Given the description of an element on the screen output the (x, y) to click on. 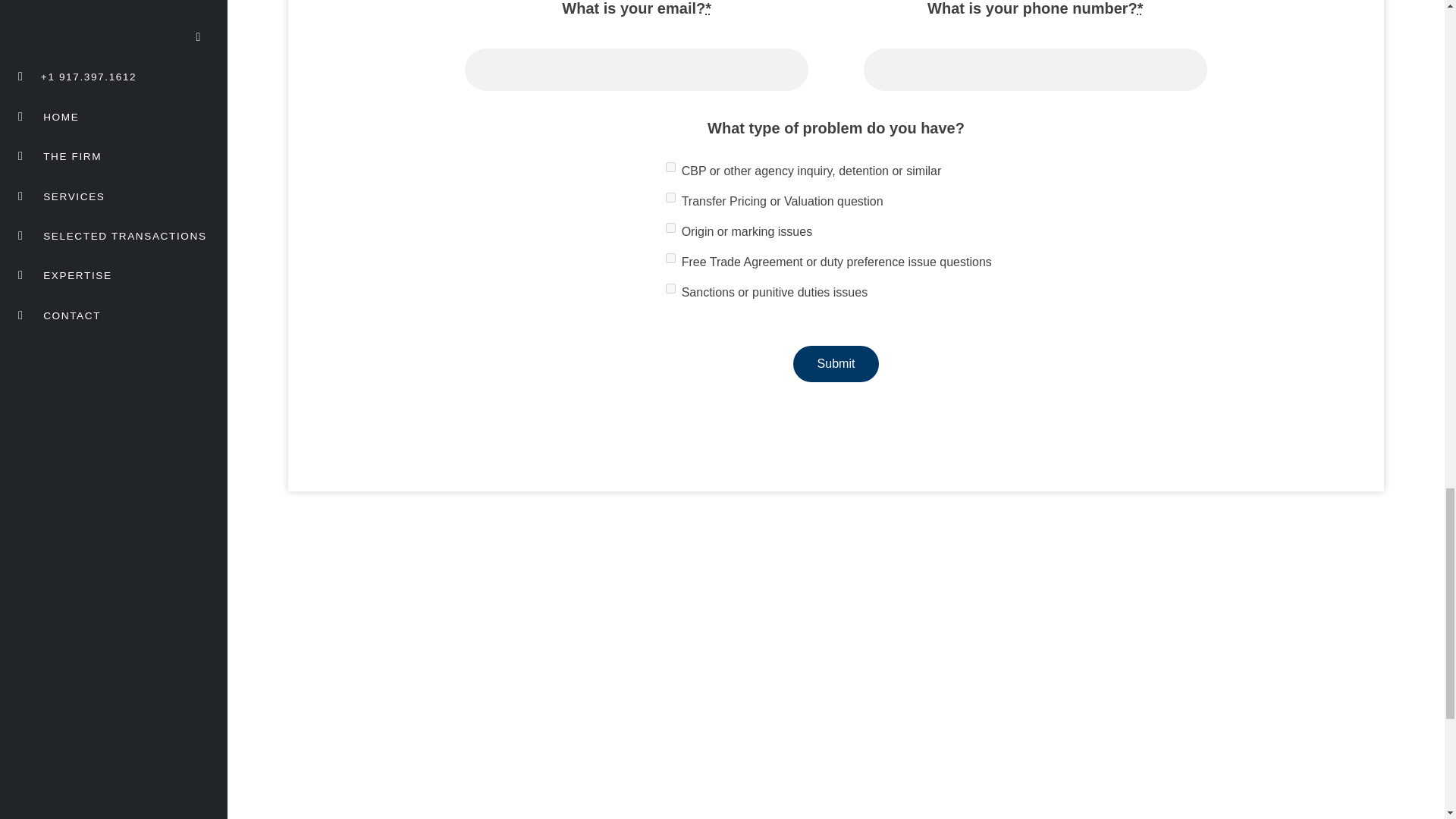
Submit (836, 363)
Transfer Pricing or Valuation question (670, 197)
Free Trade Agreement or duty preference issue questions (670, 257)
Submit (836, 363)
CBP or other agency inquiry, detention or similar (670, 166)
Origin or marking issues (670, 227)
Sanctions or punitive duties issues (670, 288)
